Given the description of an element on the screen output the (x, y) to click on. 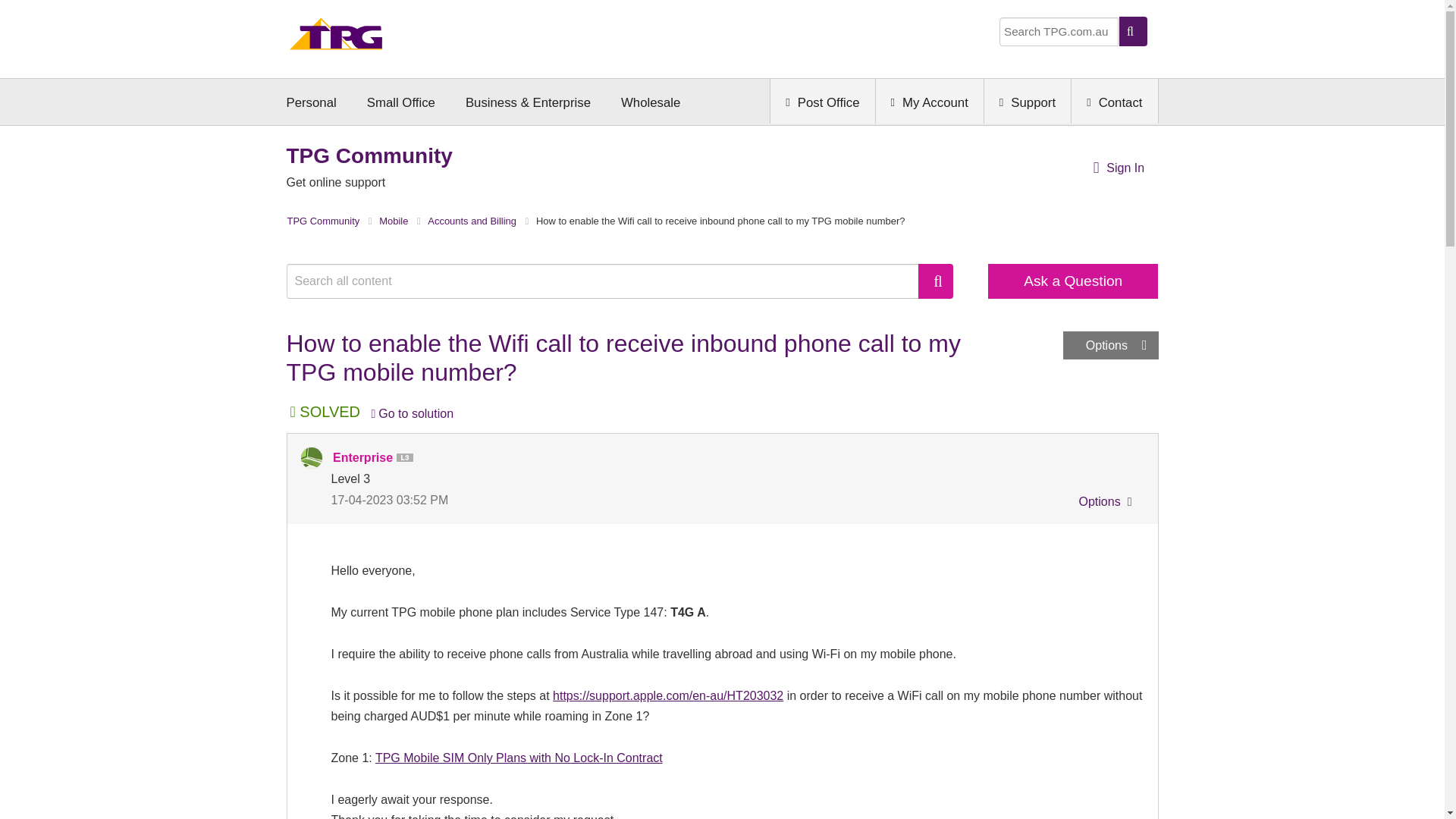
Show option menu (1110, 345)
Search (610, 280)
Search (935, 280)
Home (335, 38)
Level 3 (407, 458)
Show option menu (1103, 503)
Posted on (526, 499)
Search (935, 280)
Enterprise (310, 457)
